Given the description of an element on the screen output the (x, y) to click on. 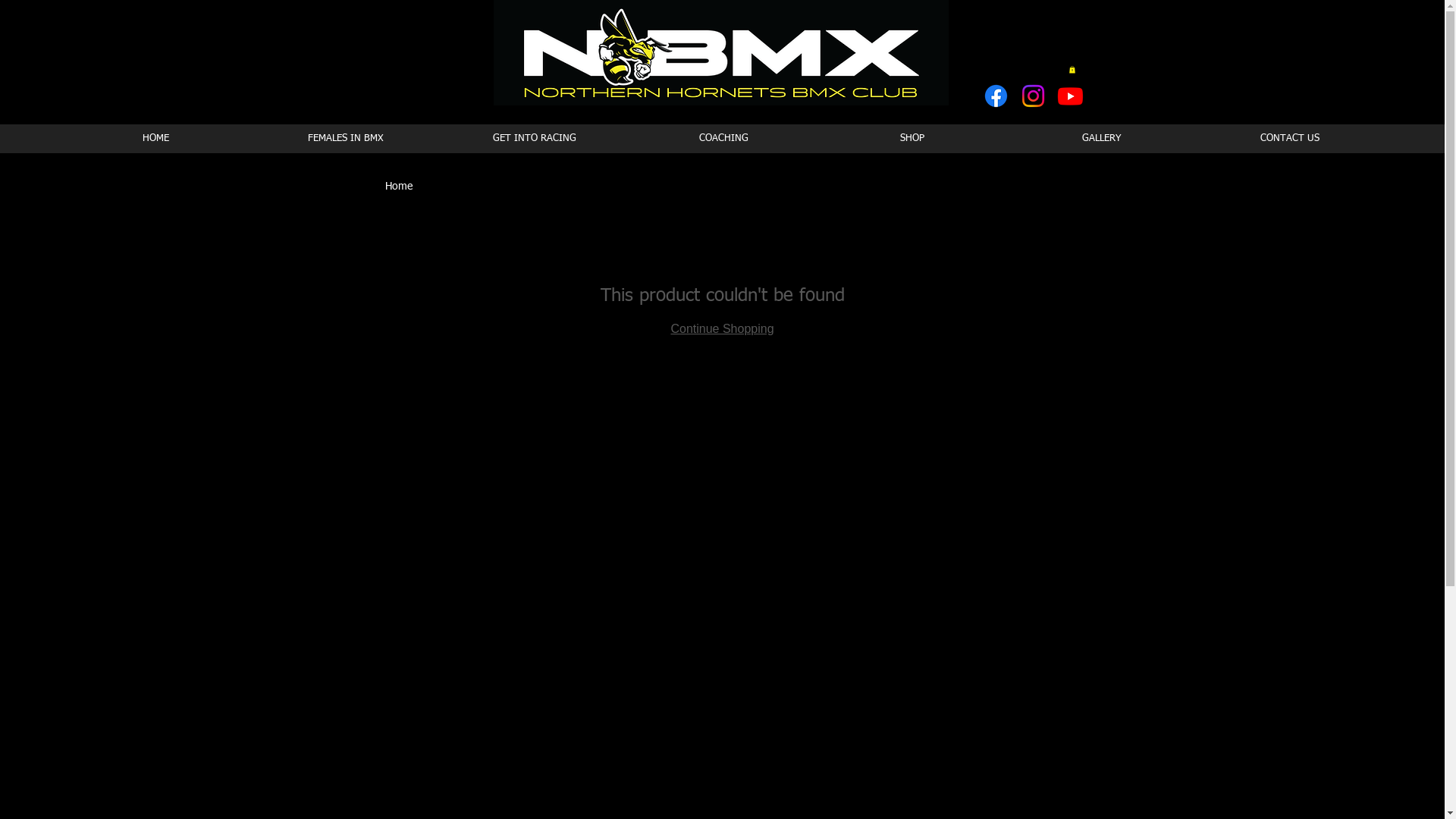
GALLERY Element type: text (1100, 138)
HOME Element type: text (155, 138)
CONTACT US Element type: text (1289, 138)
GET INTO RACING Element type: text (533, 138)
Home Element type: text (398, 186)
0 Element type: text (1072, 69)
FEMALES IN BMX Element type: text (344, 138)
Continue Shopping Element type: text (721, 328)
COACHING Element type: text (722, 138)
